Given the description of an element on the screen output the (x, y) to click on. 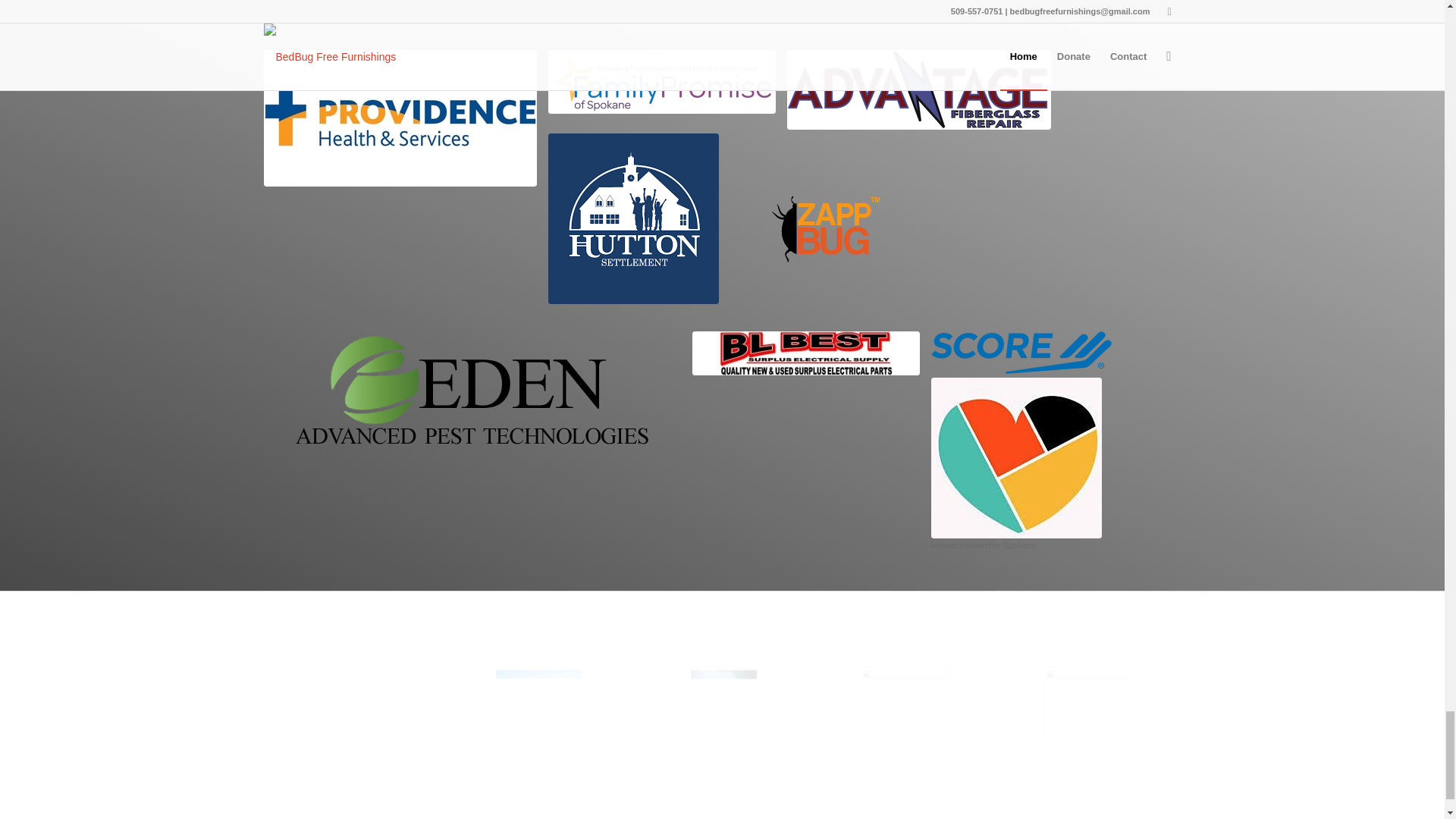
hutton-logo (632, 218)
eden-logo (472, 389)
blbest-logo (804, 353)
providence-logo (400, 117)
Spokane-Score-logo (1021, 352)
zappbug-logo (826, 230)
family-promise-spokane-logo (660, 81)
advantage-logo (919, 89)
